Given the description of an element on the screen output the (x, y) to click on. 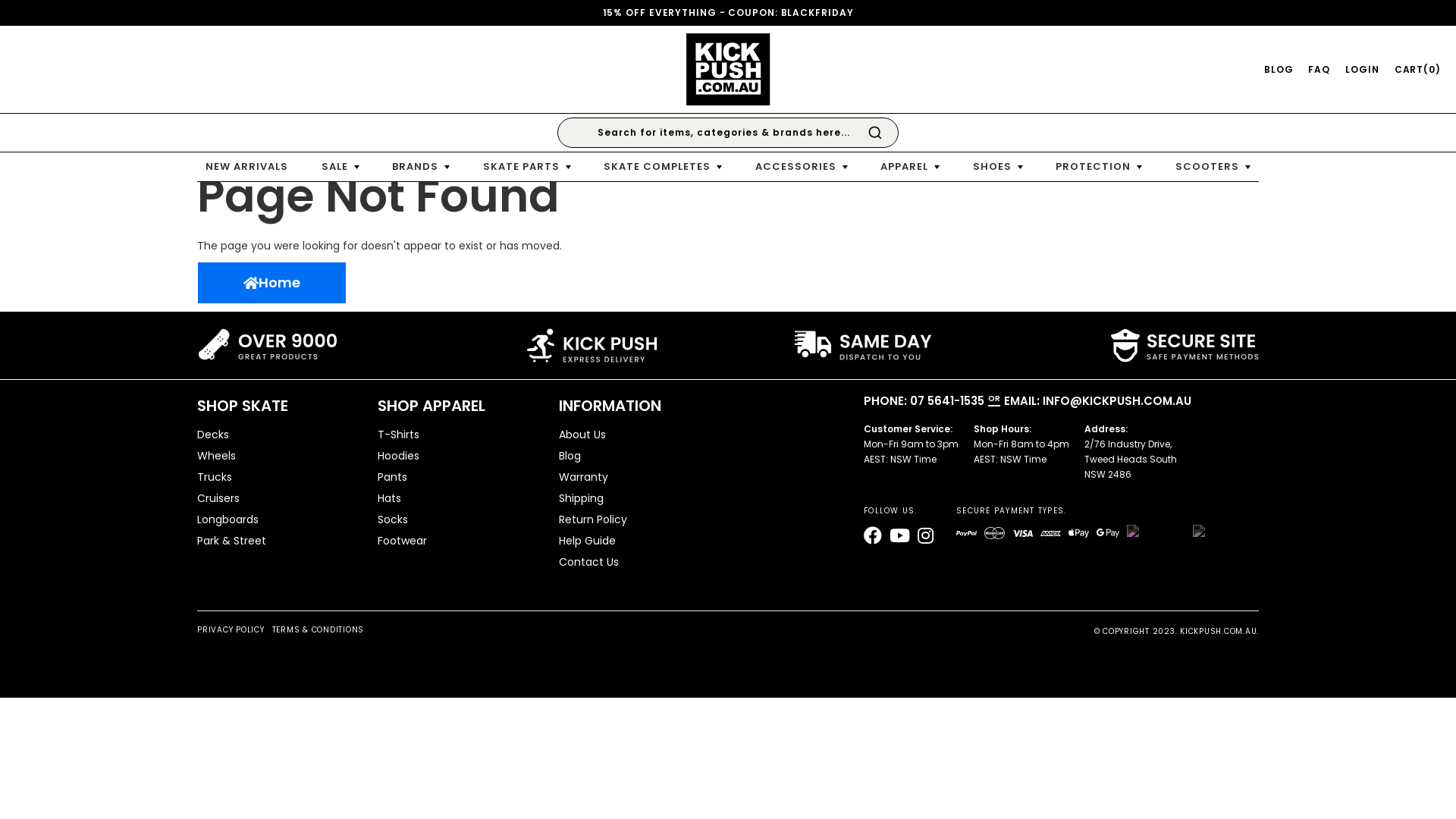
Park & Street Element type: text (275, 540)
Pants Element type: text (456, 476)
Footwear Element type: text (456, 540)
Hats Element type: text (456, 497)
LOGIN Element type: text (1362, 68)
PHONE: 07 5641-1535 Element type: text (923, 400)
Trucks Element type: text (275, 476)
SALE Element type: text (340, 166)
Wheels Element type: text (275, 455)
SCOOTERS Element type: text (1212, 166)
APPAREL Element type: text (909, 166)
FAQ Element type: text (1319, 68)
CART(0) Element type: text (1417, 68)
Instagram Element type: text (925, 536)
SHOES Element type: text (997, 166)
Contact Us Element type: text (637, 561)
PROTECTION Element type: text (1098, 166)
Socks Element type: text (456, 519)
NEW ARRIVALS Element type: text (246, 166)
ACCESSORIES Element type: text (801, 166)
Help Guide Element type: text (637, 540)
Hoodies Element type: text (456, 455)
Shipping Element type: text (637, 497)
Return Policy Element type: text (637, 519)
EMAIL: INFO@KICKPUSH.COM.AU Element type: text (1097, 400)
Cruisers Element type: text (275, 497)
About Us Element type: text (637, 434)
T-Shirts Element type: text (456, 434)
SKATE PARTS Element type: text (526, 166)
Blog Element type: text (637, 455)
Longboards Element type: text (275, 519)
Home Element type: text (271, 282)
TERMS & CONDITIONS Element type: text (317, 631)
BLOG Element type: text (1278, 68)
Facebook Element type: text (872, 536)
BRANDS Element type: text (420, 166)
PRIVACY POLICY Element type: text (230, 631)
SKATE COMPLETES Element type: text (662, 166)
Youtube Element type: text (899, 536)
Warranty Element type: text (637, 476)
Decks Element type: text (275, 434)
